Given the description of an element on the screen output the (x, y) to click on. 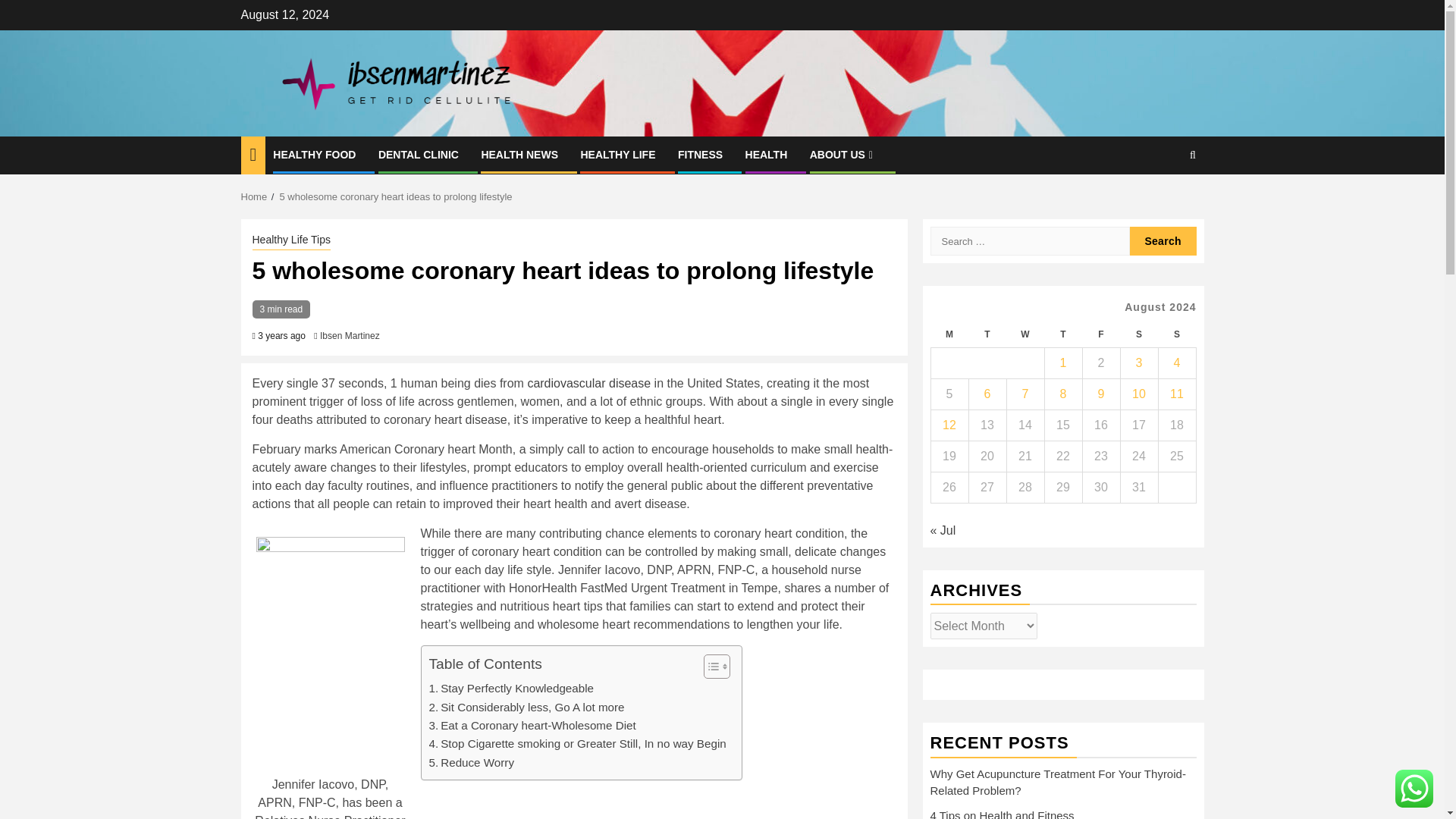
Stop Cigarette smoking or Greater Still, In no way Begin (577, 743)
Stay Perfectly Knowledgeable (511, 688)
Home (254, 196)
Stop Cigarette smoking or Greater Still, In no way Begin (577, 743)
Saturday (1138, 334)
DENTAL CLINIC (418, 154)
Thursday (1062, 334)
HEALTH (766, 154)
Monday (949, 334)
Sit Considerably less, Go A lot more (526, 707)
